Given the description of an element on the screen output the (x, y) to click on. 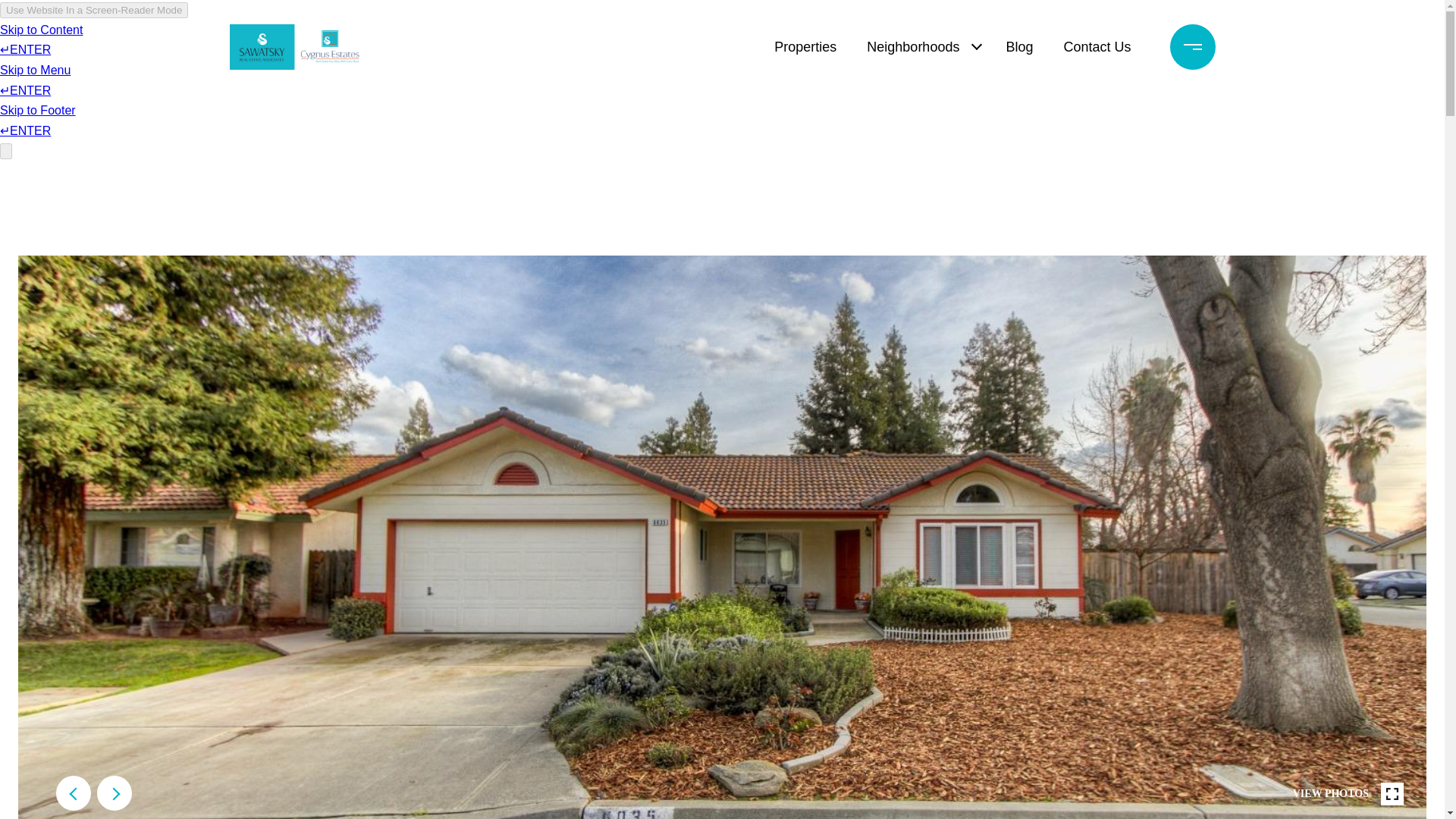
Properties (805, 46)
next (114, 792)
Neighborhoods (912, 46)
prev (73, 792)
Contact Us (1096, 46)
